Given the description of an element on the screen output the (x, y) to click on. 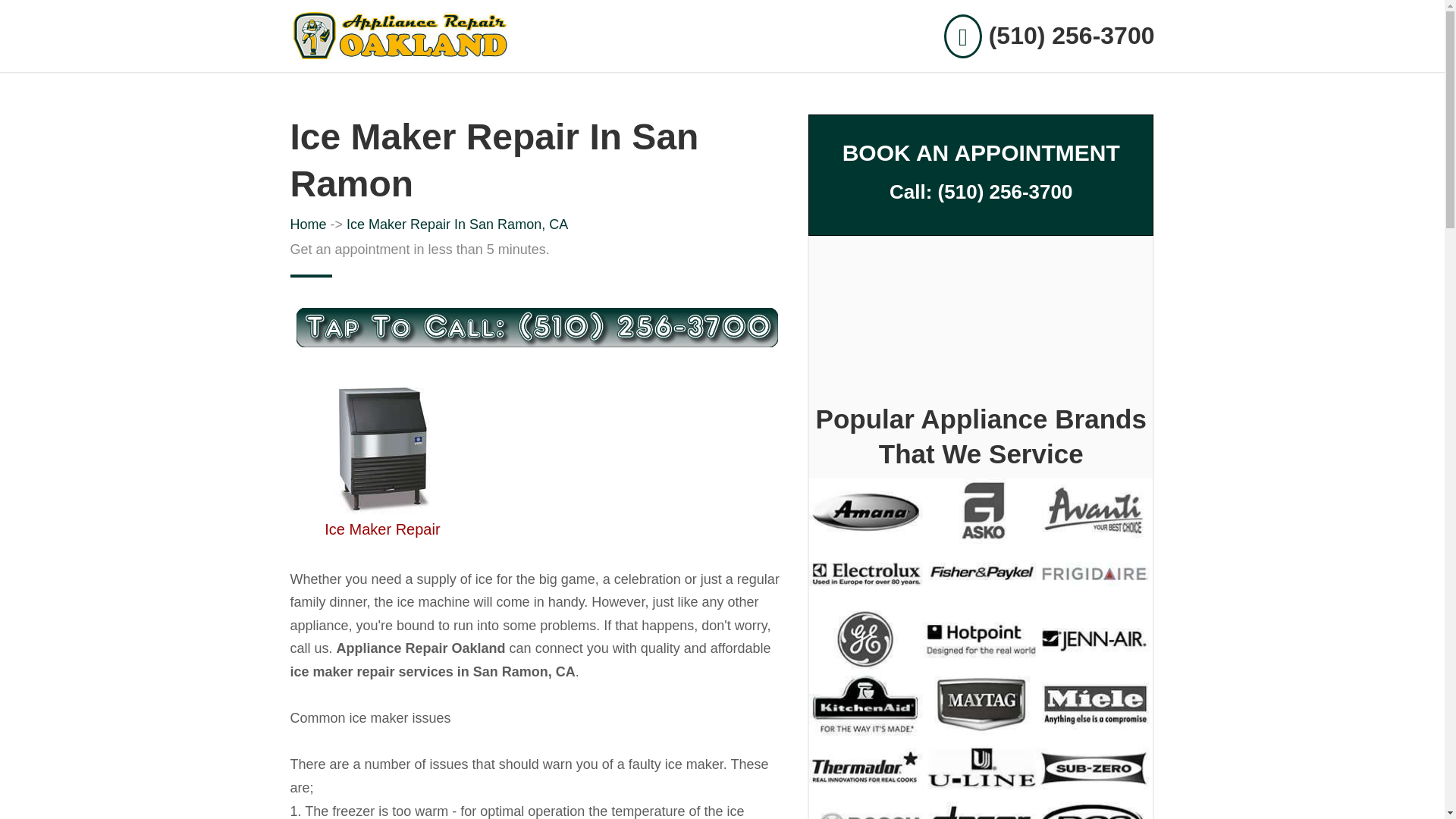
Home (307, 224)
Ice Maker Repair In San Ramon, CA (456, 224)
Ice Maker Repair (381, 528)
